Given the description of an element on the screen output the (x, y) to click on. 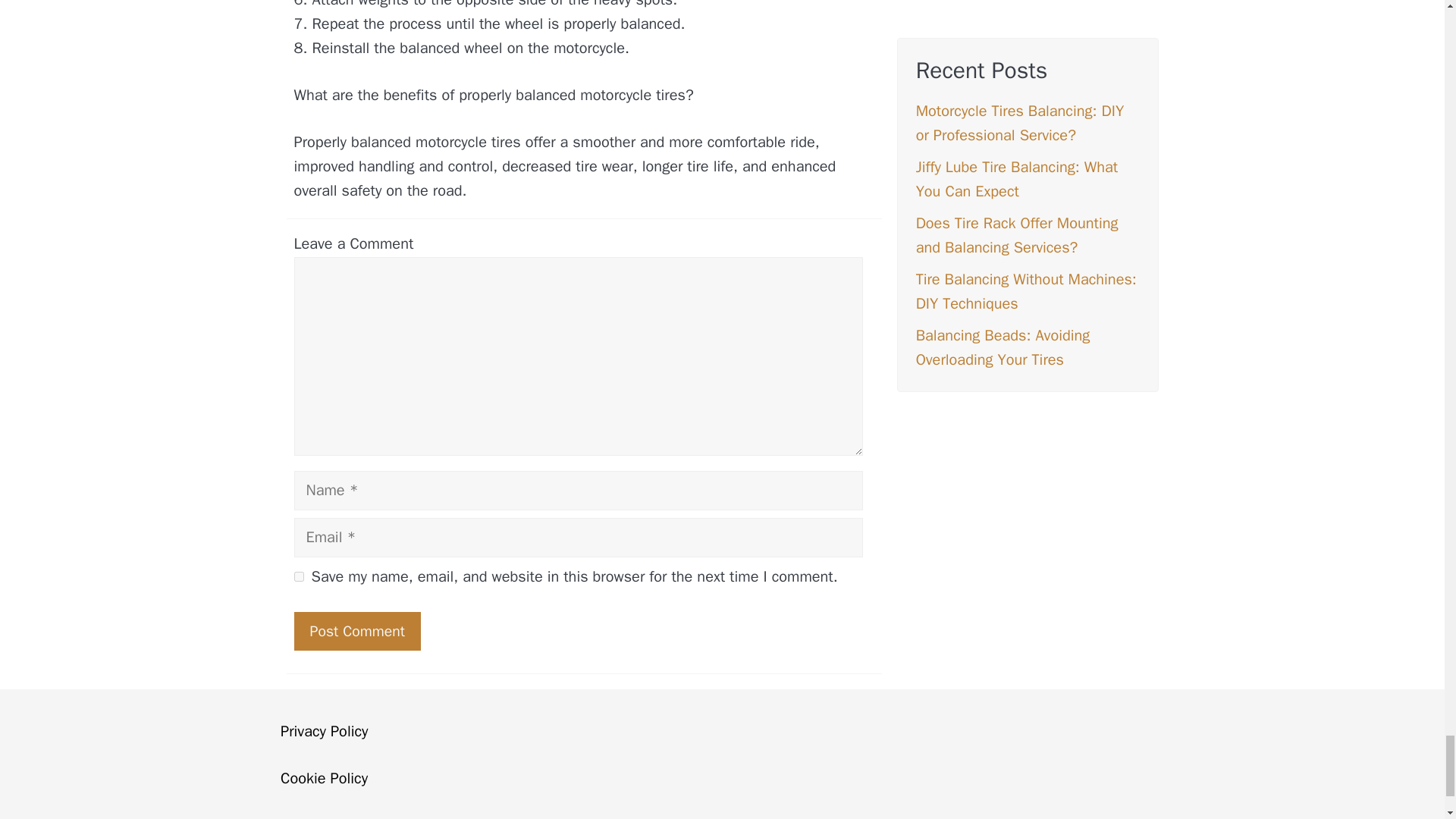
Post Comment (357, 630)
Post Comment (357, 630)
Cookie Policy (324, 778)
Privacy Policy (324, 731)
About (299, 817)
yes (299, 576)
